Given the description of an element on the screen output the (x, y) to click on. 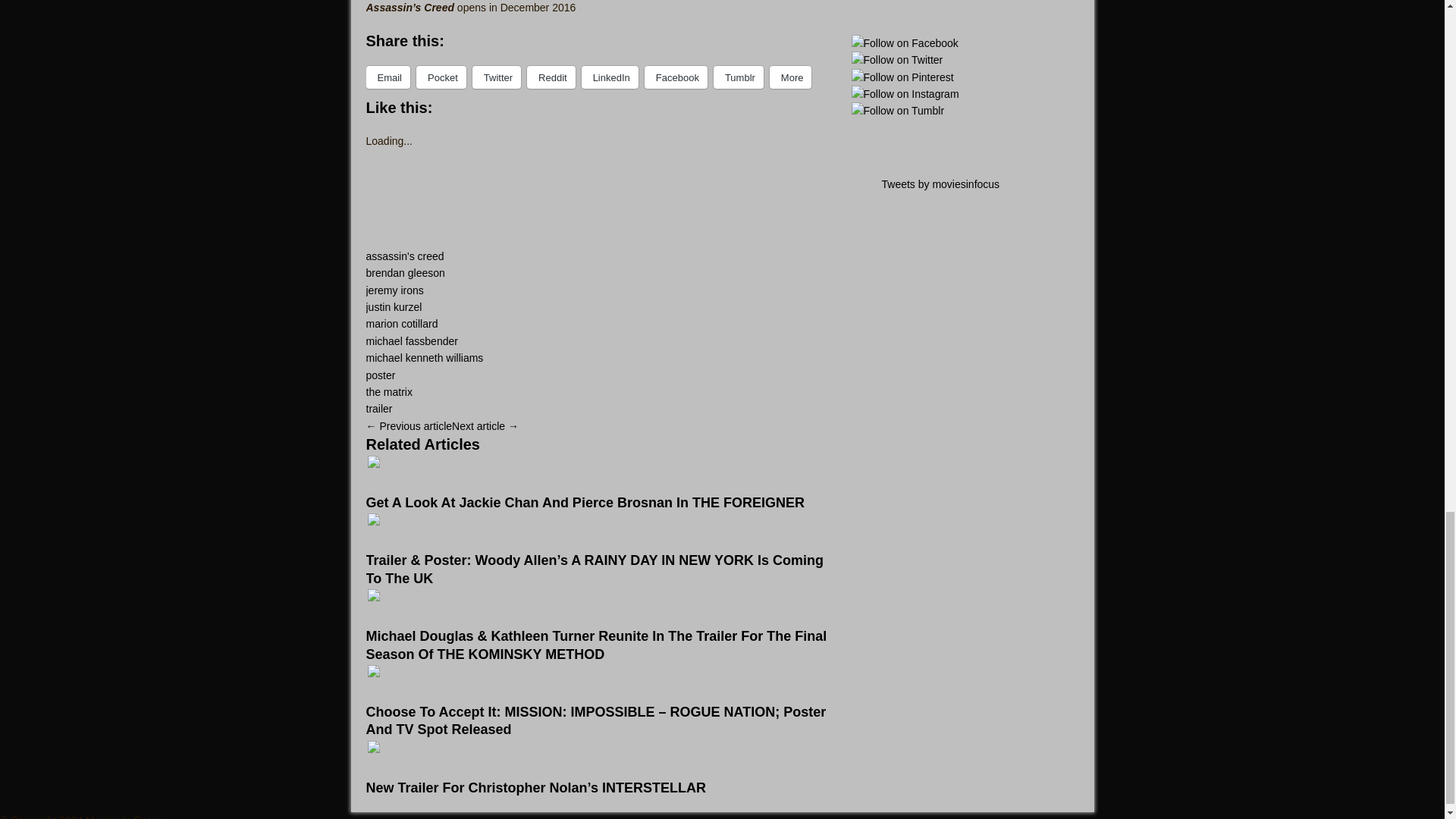
Email (387, 77)
Click to share on Facebook (676, 77)
Reddit (551, 77)
brendan gleeson (404, 272)
Click to share on Pocket (440, 77)
Pocket (440, 77)
jeremy irons (394, 290)
LinkedIn (609, 77)
Facebook (676, 77)
